Given the description of an element on the screen output the (x, y) to click on. 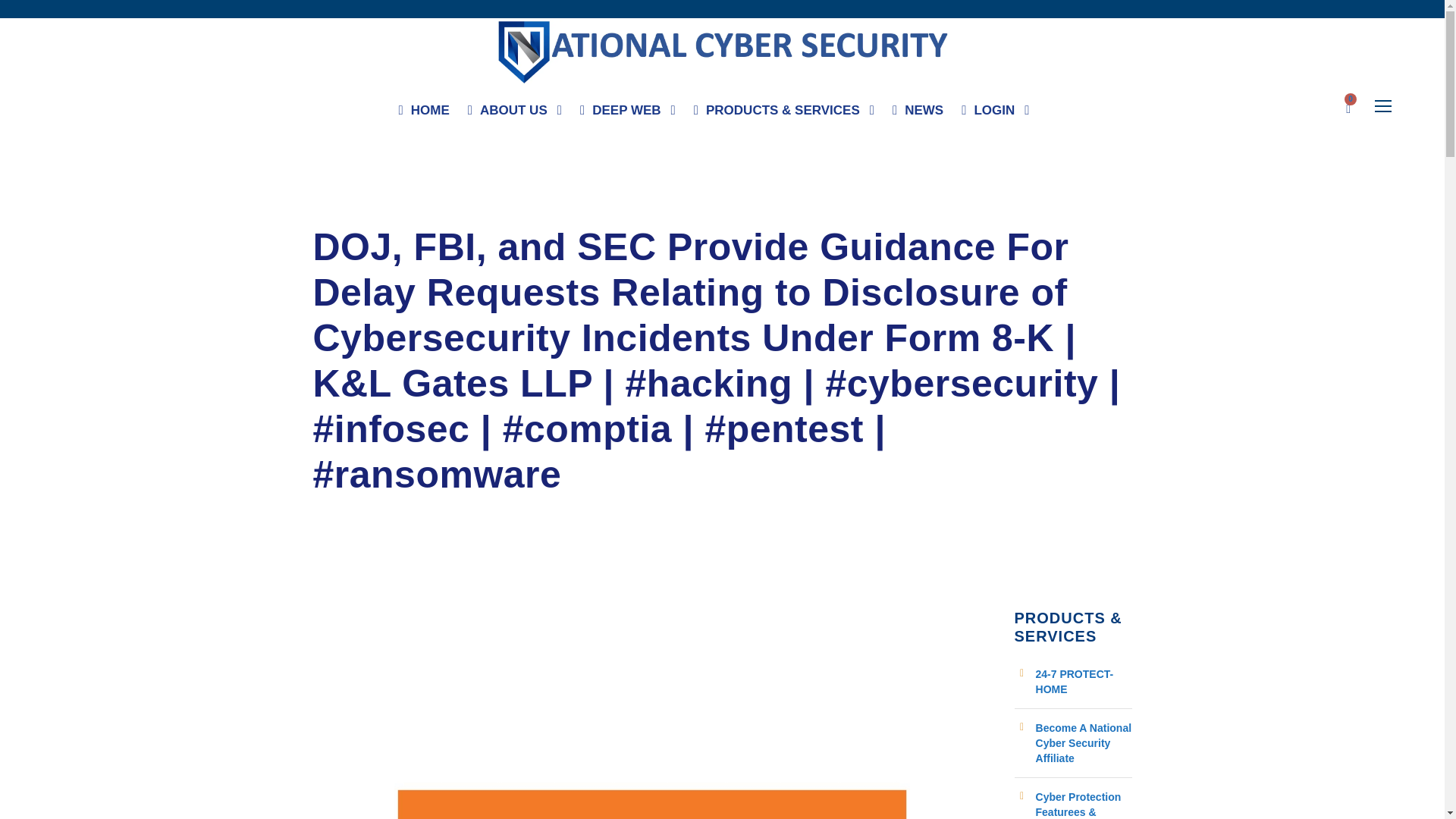
ABOUT US (514, 114)
Posts by Natioinal Cyber Security Training Academy Corp (443, 211)
DEEP WEB (627, 114)
HOME (423, 114)
